Given the description of an element on the screen output the (x, y) to click on. 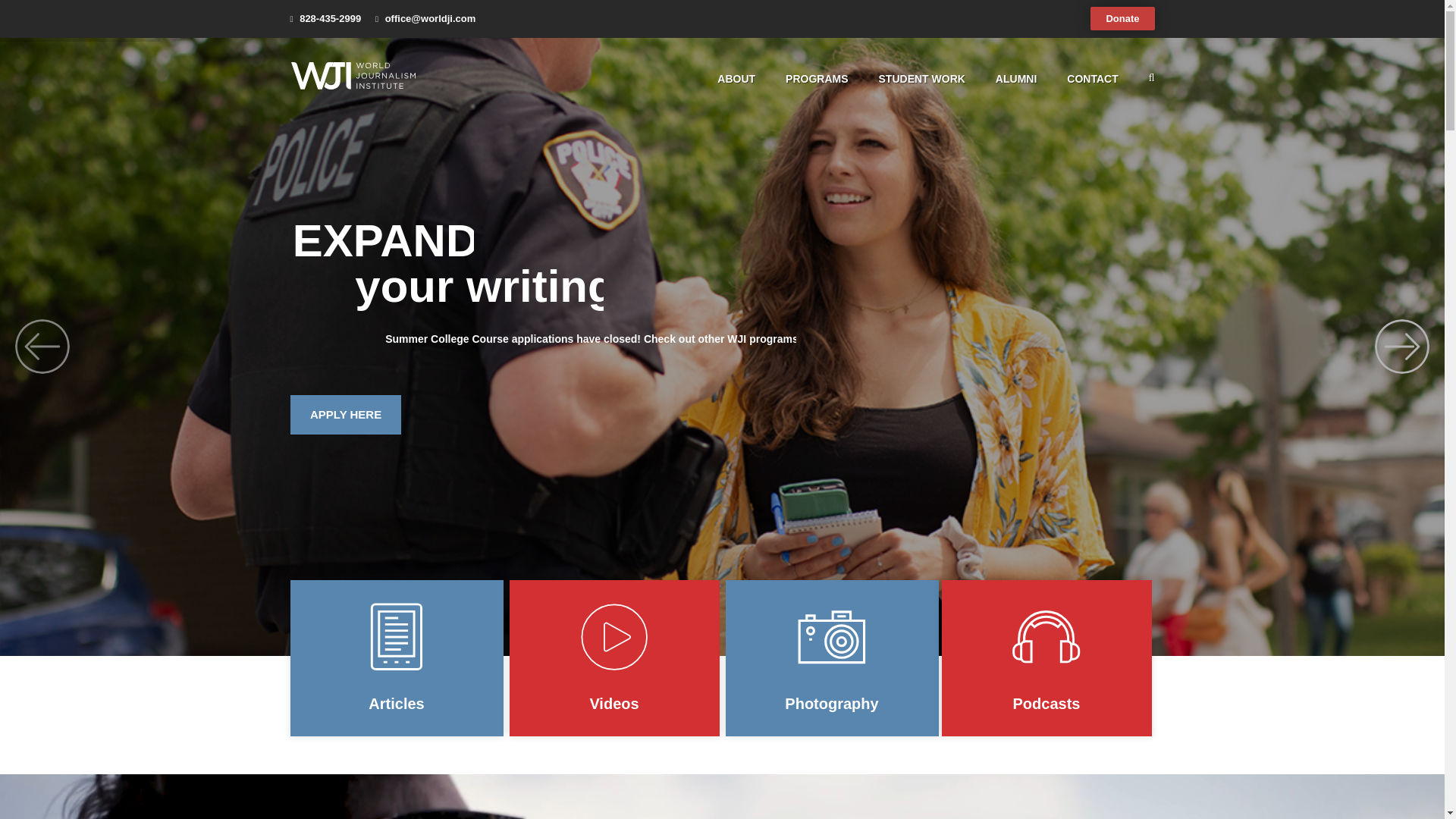
Videos (614, 657)
Photography (831, 657)
CONTACT (1092, 79)
STUDENT WORK (922, 79)
PROGRAMS (816, 79)
Podcasts (1046, 657)
828-435-2999 (330, 18)
College Course (469, 338)
Donate (1122, 18)
Articles (395, 657)
APPLY HERE (345, 414)
